Given the description of an element on the screen output the (x, y) to click on. 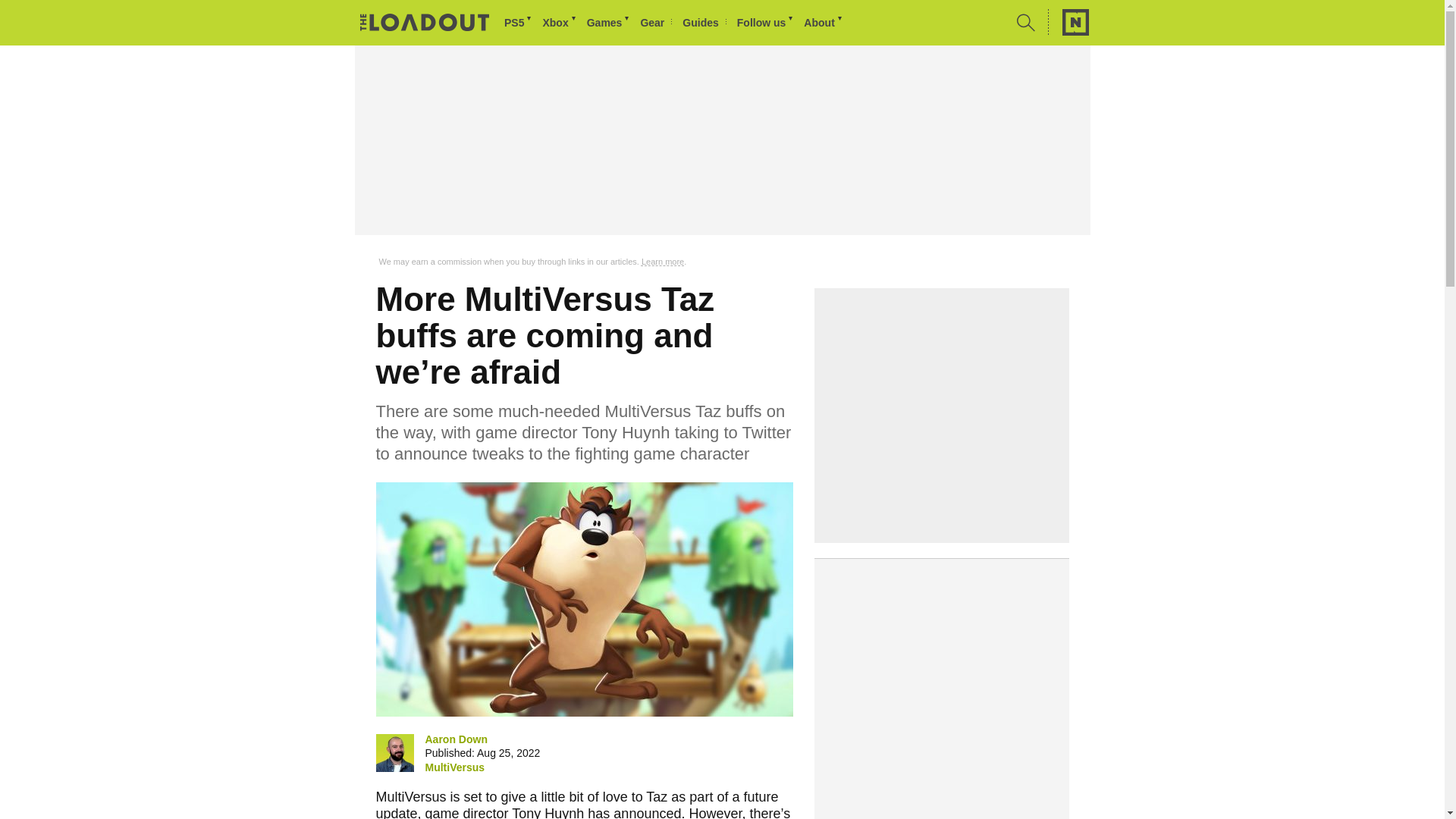
Follow The Loadout (765, 22)
Game Guides (704, 22)
Aaron Down (394, 752)
The Loadout (424, 24)
Games (608, 22)
Guides (704, 22)
MultiVersus (454, 767)
Network N Media (1068, 22)
Aaron Down (455, 739)
Learn more (663, 261)
